Given the description of an element on the screen output the (x, y) to click on. 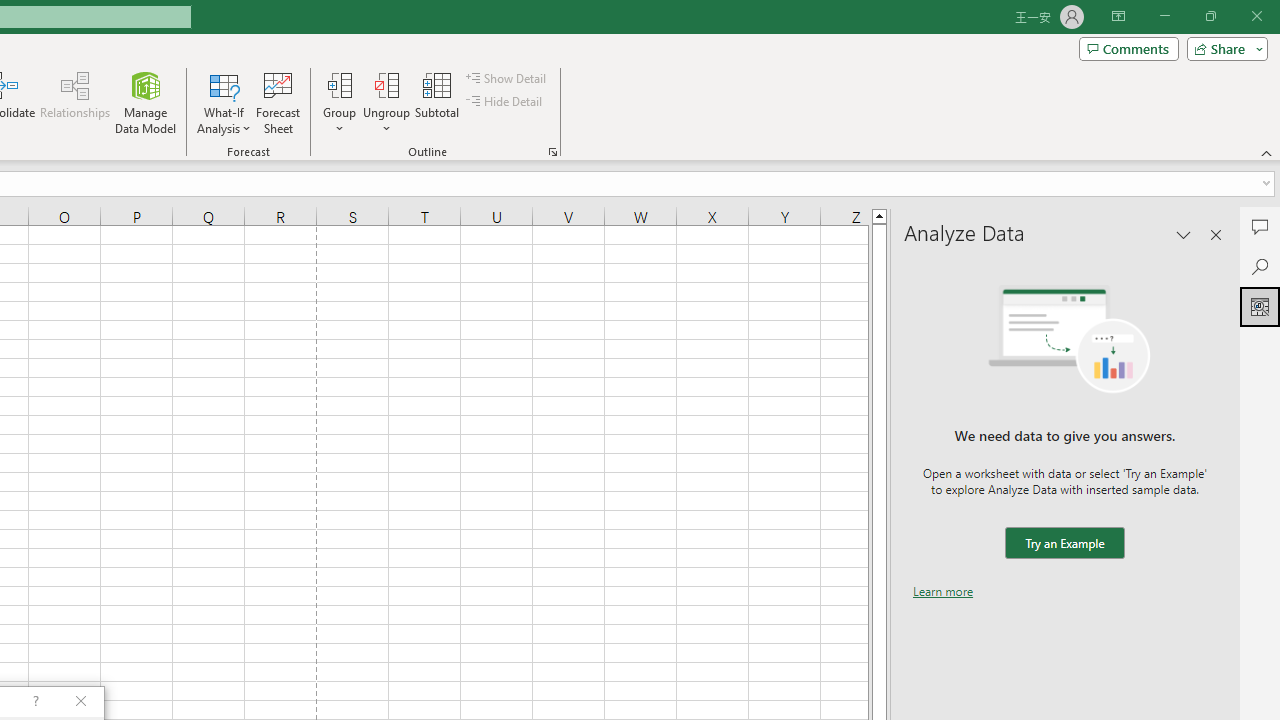
Ungroup... (386, 102)
Ungroup... (386, 84)
Subtotal (437, 102)
Group... (339, 84)
Show Detail (507, 78)
Close pane (1215, 234)
Manage Data Model (145, 102)
Learn more (943, 591)
Analyze Data (1260, 306)
